Given the description of an element on the screen output the (x, y) to click on. 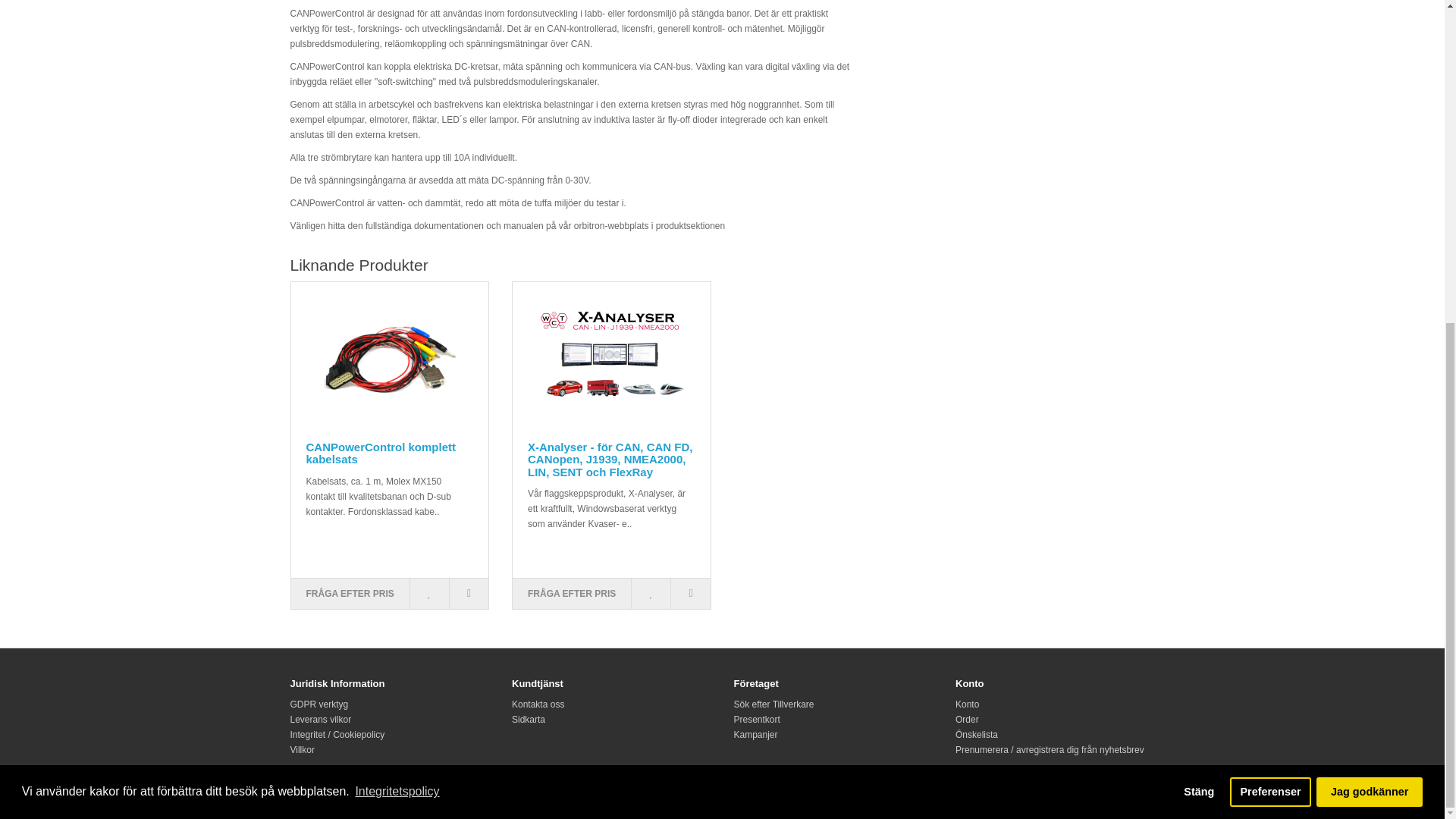
CANPowerControl komplett kabelsats (389, 357)
Preferenser (1270, 263)
Integritetspolicy (397, 263)
